Given the description of an element on the screen output the (x, y) to click on. 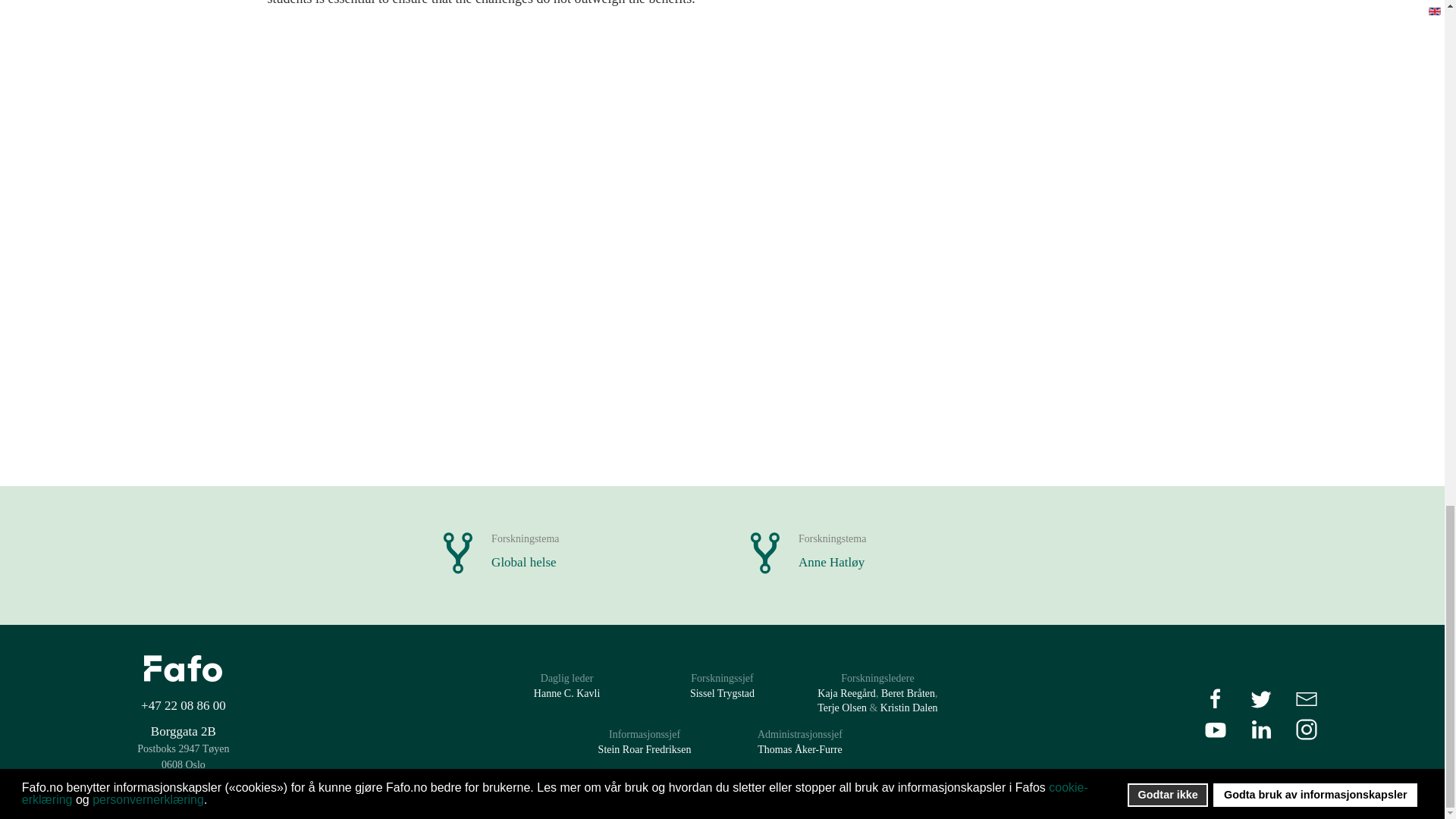
Kristin Dalen (568, 552)
Terje Olsen (908, 707)
Hanne C. Kavli (841, 707)
Borggata 2B (566, 693)
Sissel Trygstad (183, 730)
